Given the description of an element on the screen output the (x, y) to click on. 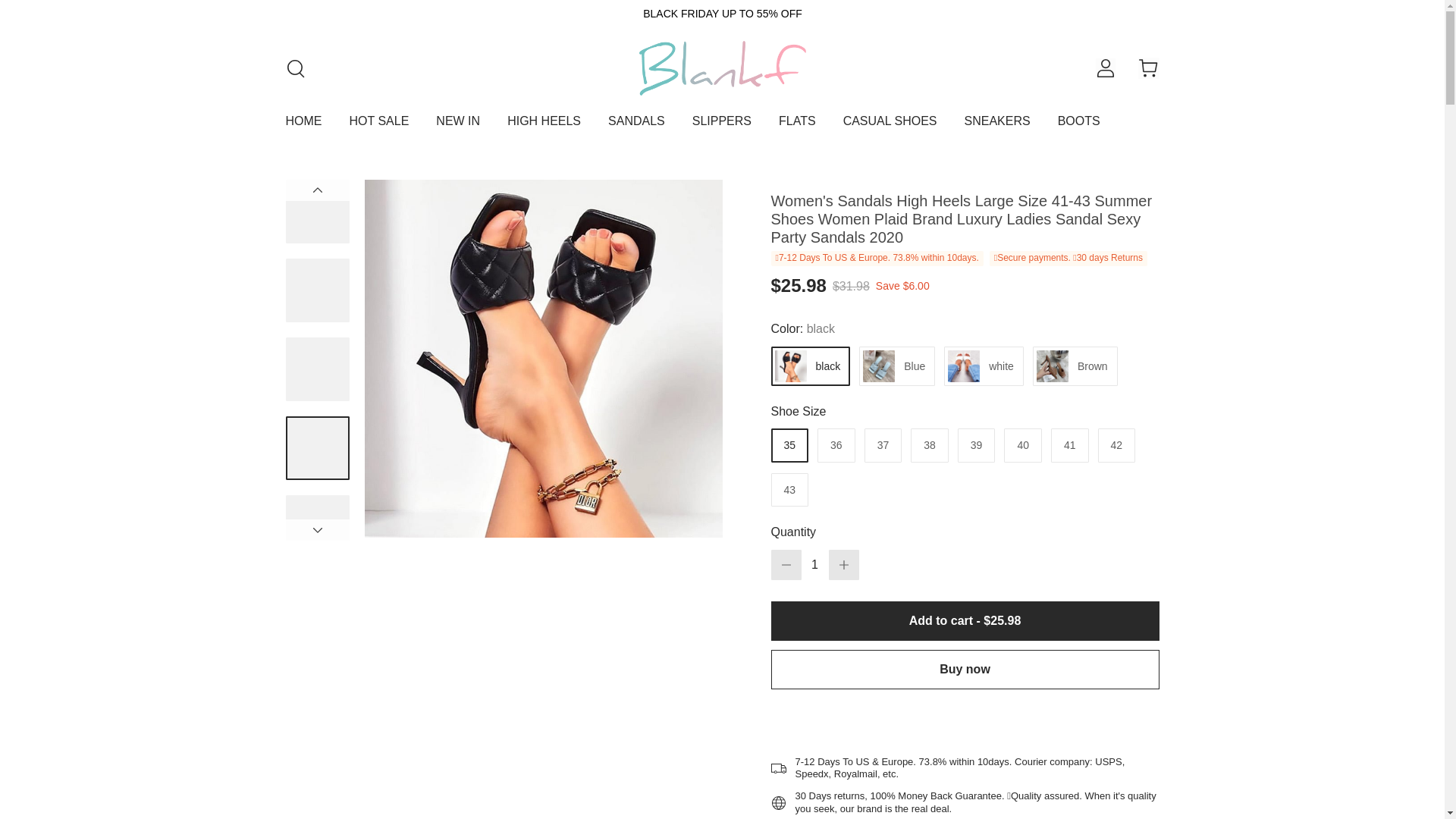
SANDALS (636, 127)
HIGH HEELS (543, 127)
PayPal (964, 717)
1 (814, 564)
CASUAL SHOES (890, 127)
BOOTS (1079, 127)
SLIPPERS (722, 127)
SNEAKERS (996, 127)
HOT SALE (379, 127)
HOME (303, 127)
NEW IN (457, 127)
FLATS (796, 127)
